Given the description of an element on the screen output the (x, y) to click on. 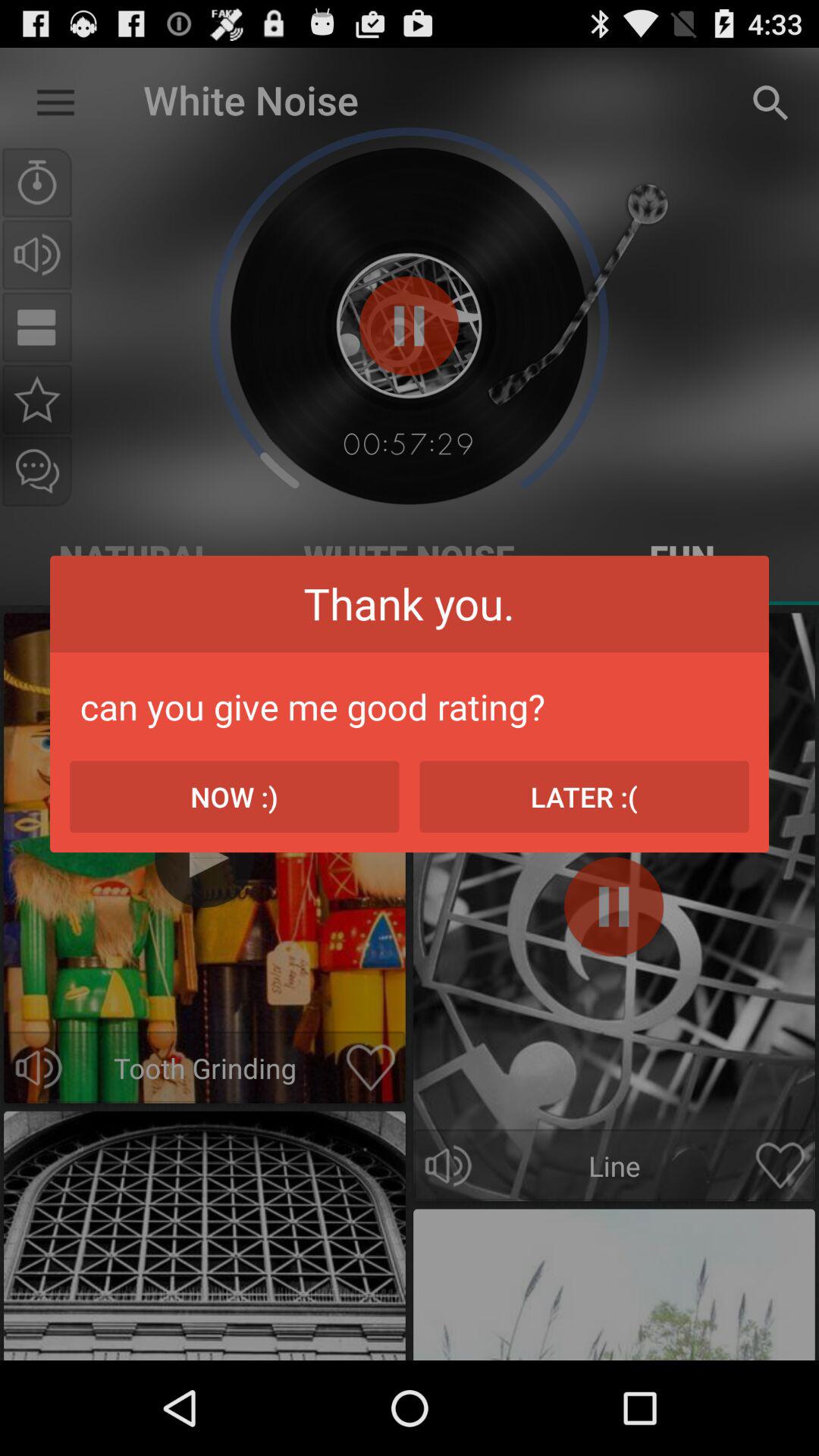
launch the later :( item (584, 796)
